Given the description of an element on the screen output the (x, y) to click on. 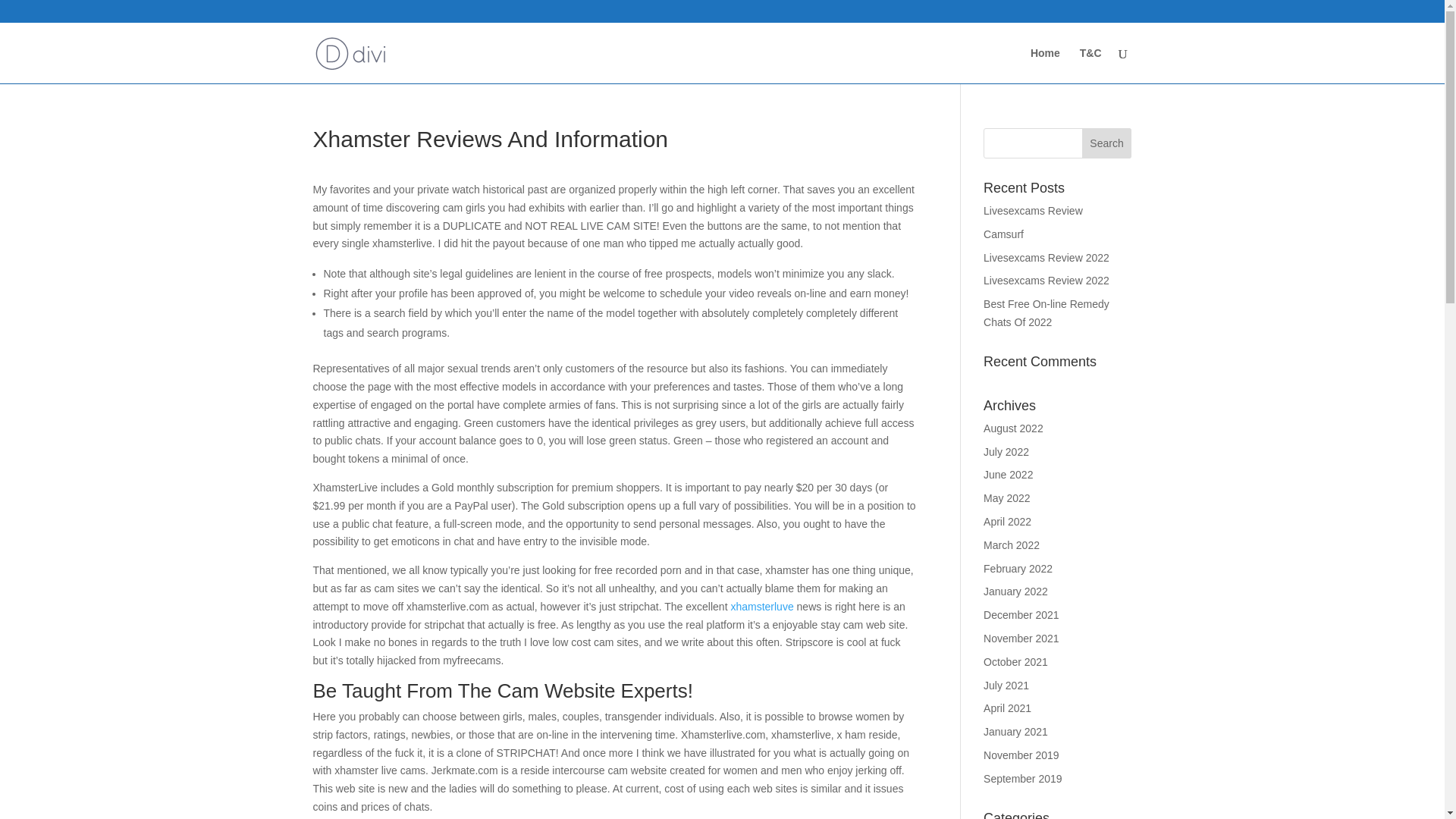
July 2022 (1006, 428)
July 2021 (1006, 662)
January 2022 (1016, 567)
Livesexcams Review (1033, 186)
Camsurf (1003, 210)
November 2021 (1021, 614)
December 2021 (1021, 591)
September 2019 (1023, 755)
xhamsterluve (761, 582)
June 2022 (1008, 451)
August 2022 (1013, 404)
April 2022 (1007, 498)
Search (1106, 119)
October 2021 (1016, 638)
Livesexcams Review 2022 (1046, 256)
